Given the description of an element on the screen output the (x, y) to click on. 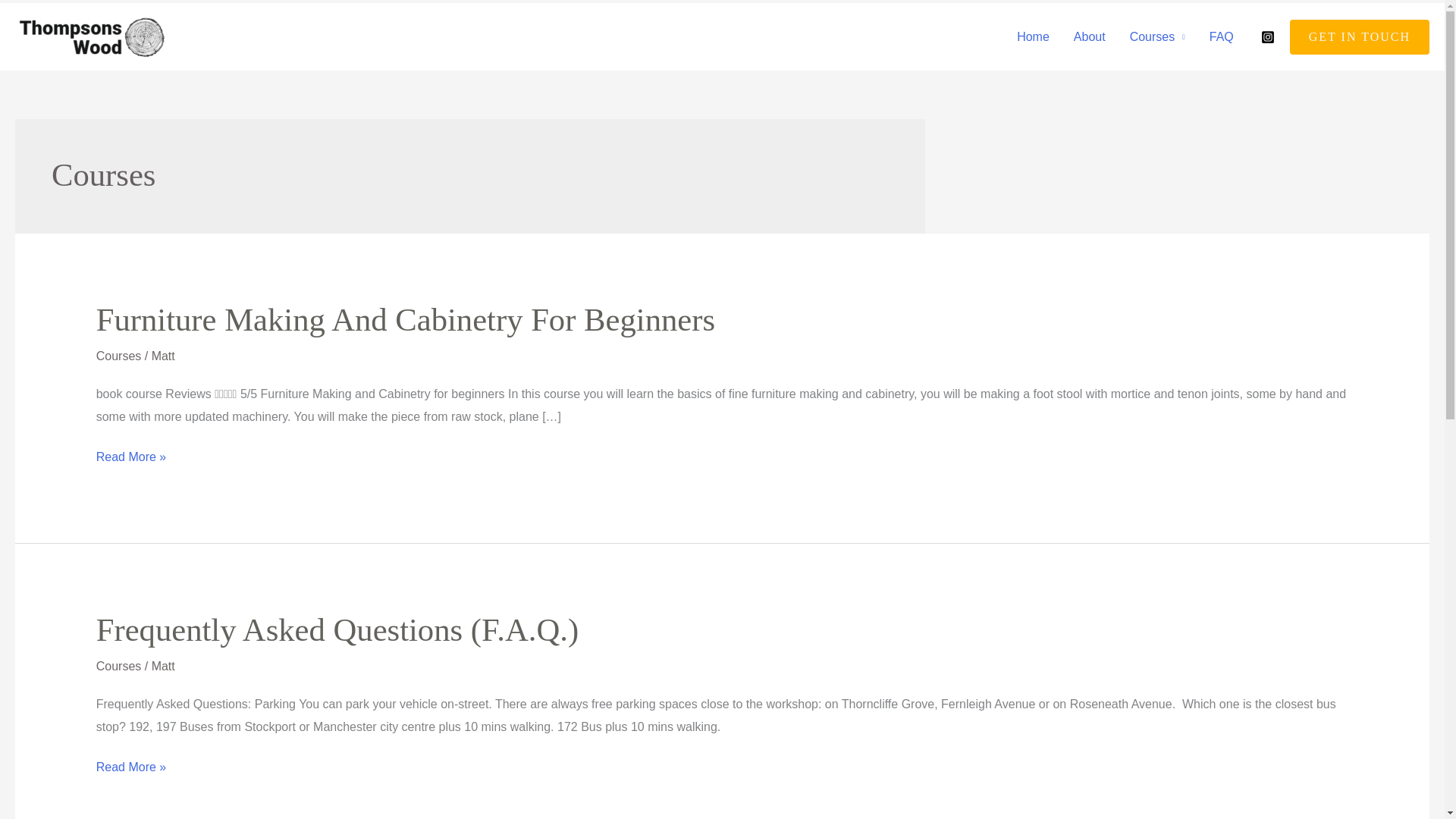
View all posts by Matt (162, 355)
FAQ (1221, 36)
GET IN TOUCH (1359, 36)
Home (1032, 36)
Matt (162, 355)
Matt (162, 666)
About (1089, 36)
View all posts by Matt (162, 666)
Furniture Making And Cabinetry For Beginners (405, 319)
Courses (118, 666)
